Given the description of an element on the screen output the (x, y) to click on. 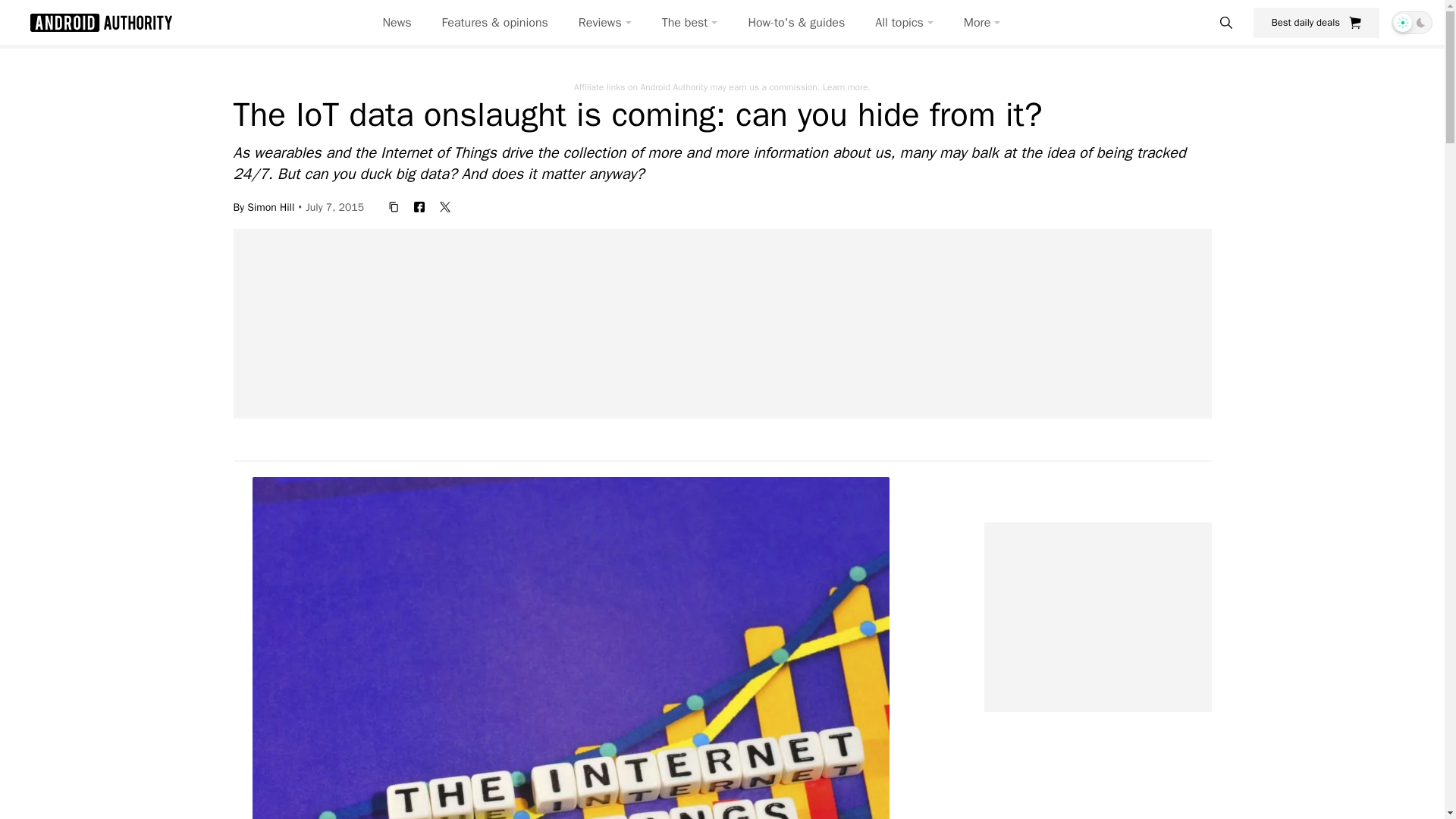
facebook (419, 207)
twitter (445, 207)
Reviews (604, 22)
Learn more. (846, 86)
Best daily deals (1315, 22)
All topics (904, 22)
The best (689, 22)
Simon Hill (270, 206)
